Given the description of an element on the screen output the (x, y) to click on. 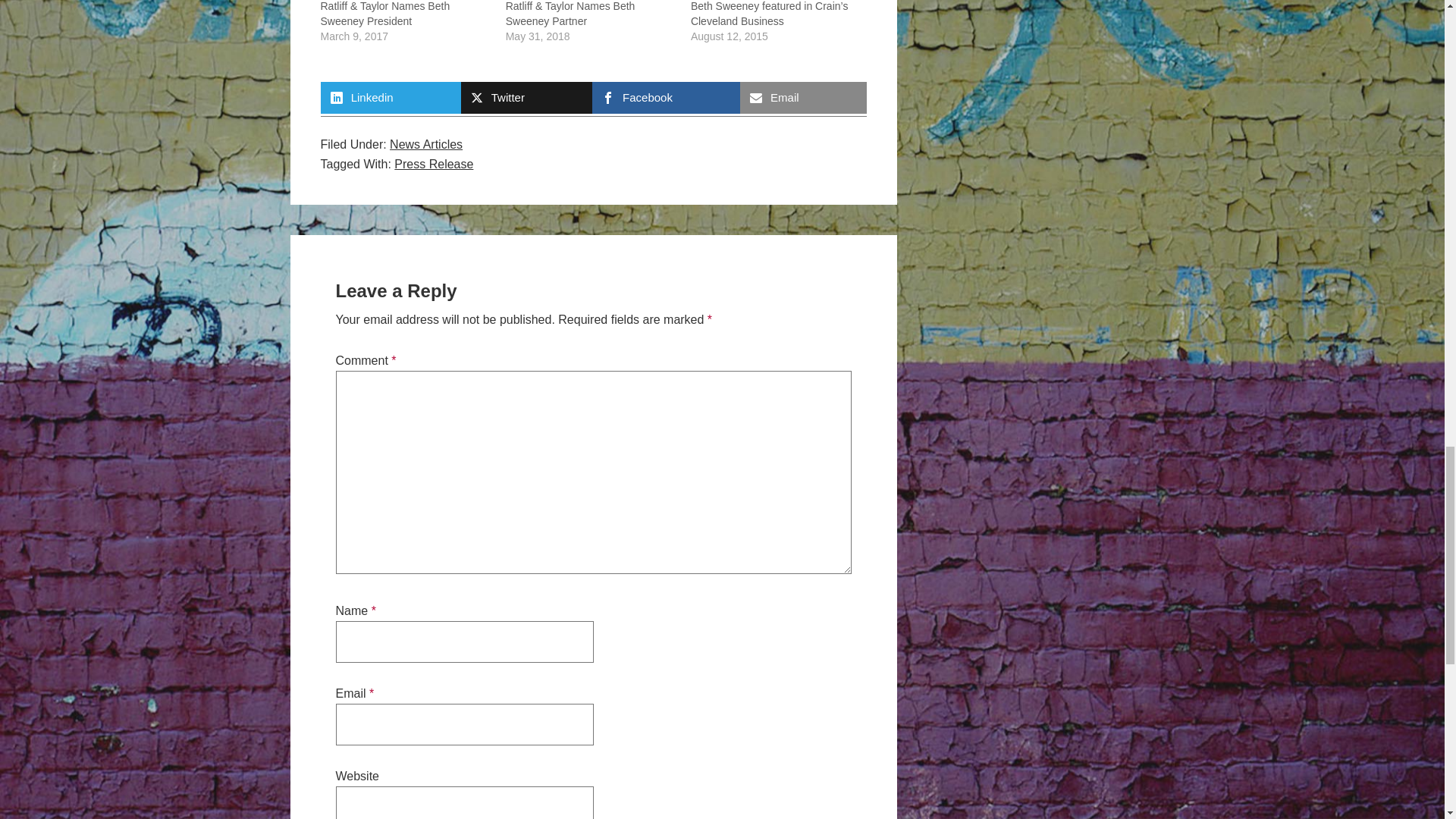
Linkedin (390, 97)
Twitter (526, 97)
Facebook (665, 97)
Email (802, 97)
